Given the description of an element on the screen output the (x, y) to click on. 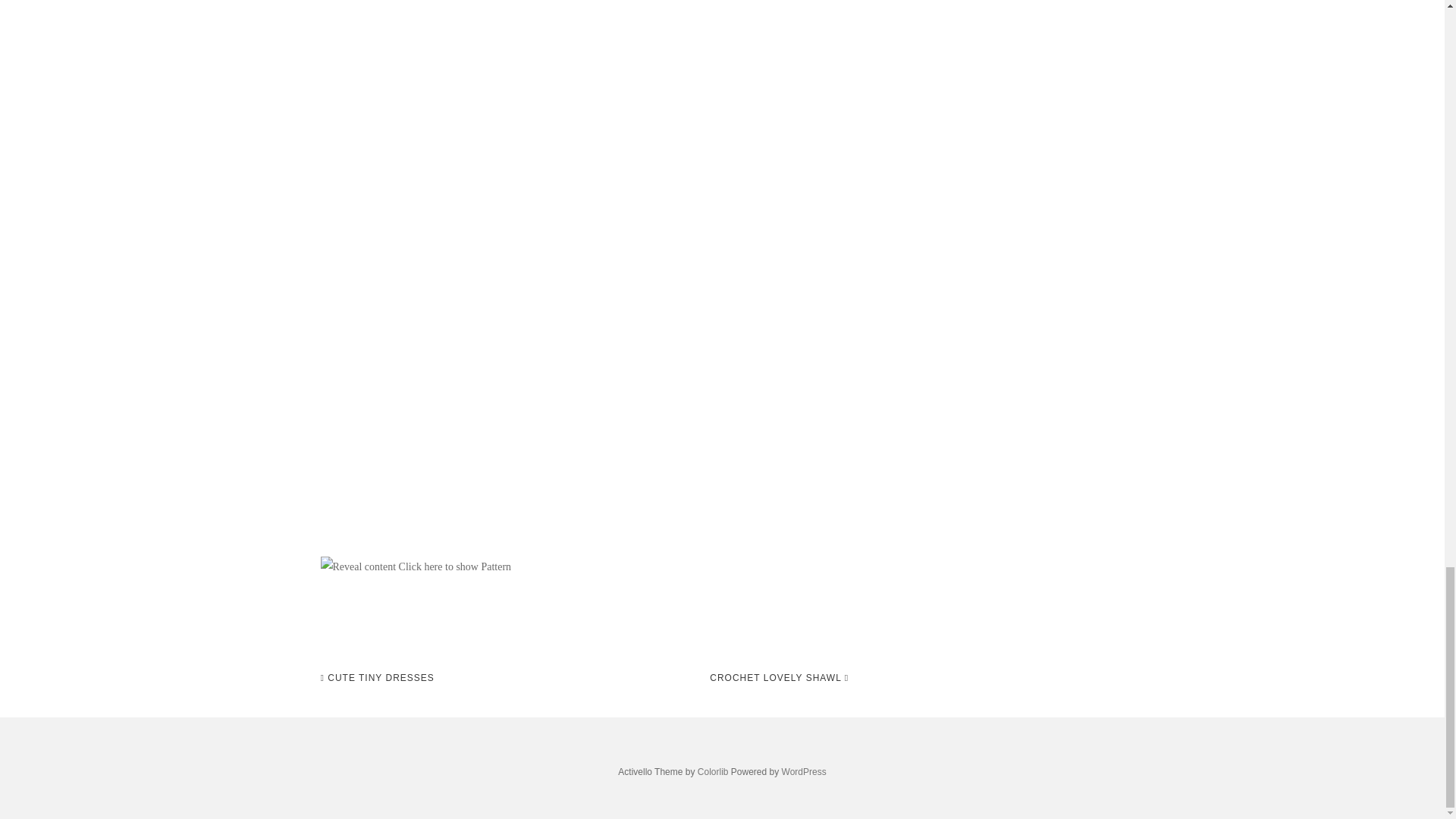
CUTE TINY DRESSES (376, 678)
Reveal content (358, 567)
CROCHET LOVELY SHAWL (779, 678)
